Given the description of an element on the screen output the (x, y) to click on. 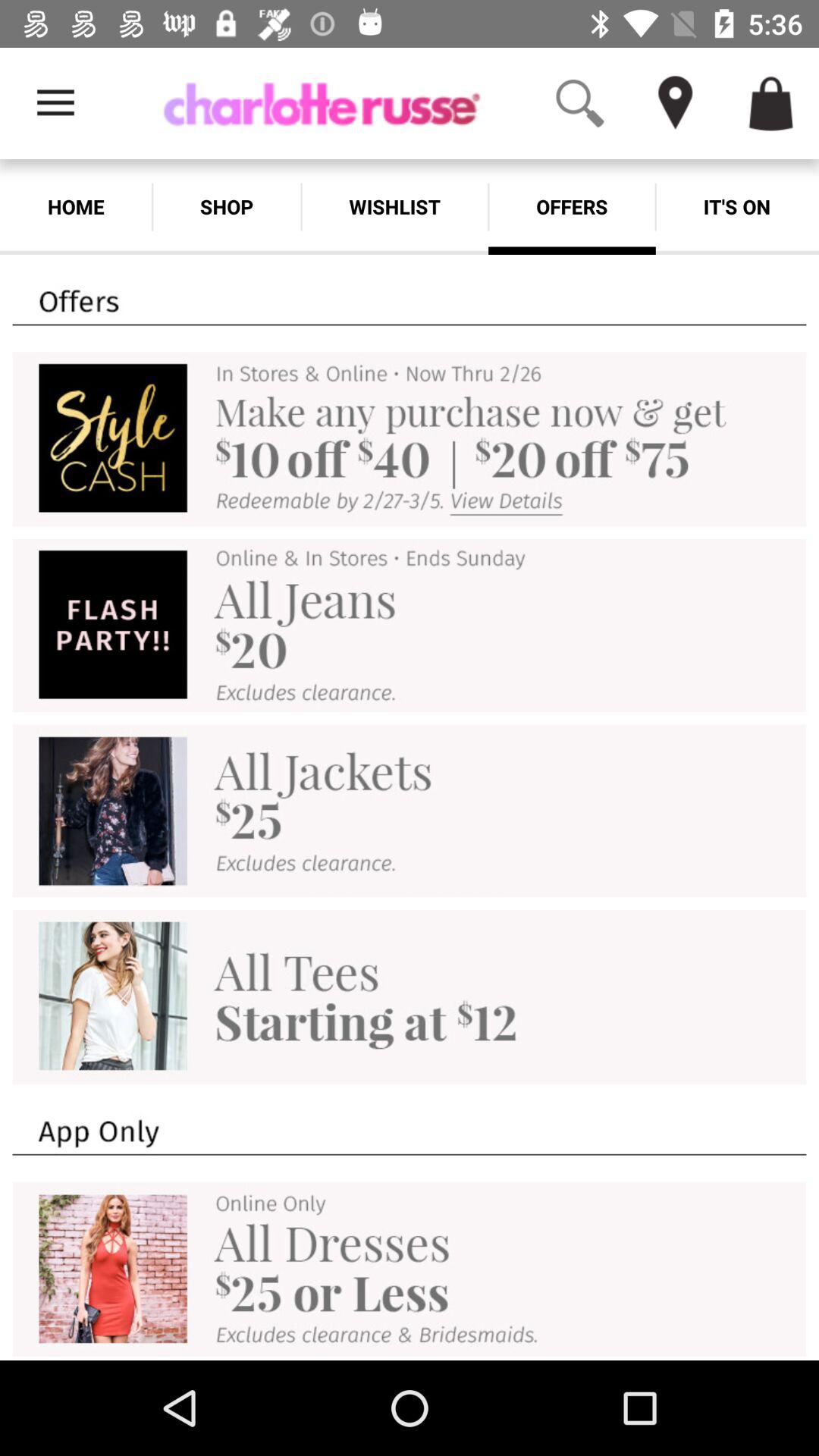
turn on item to the left of the it's on (571, 206)
